Given the description of an element on the screen output the (x, y) to click on. 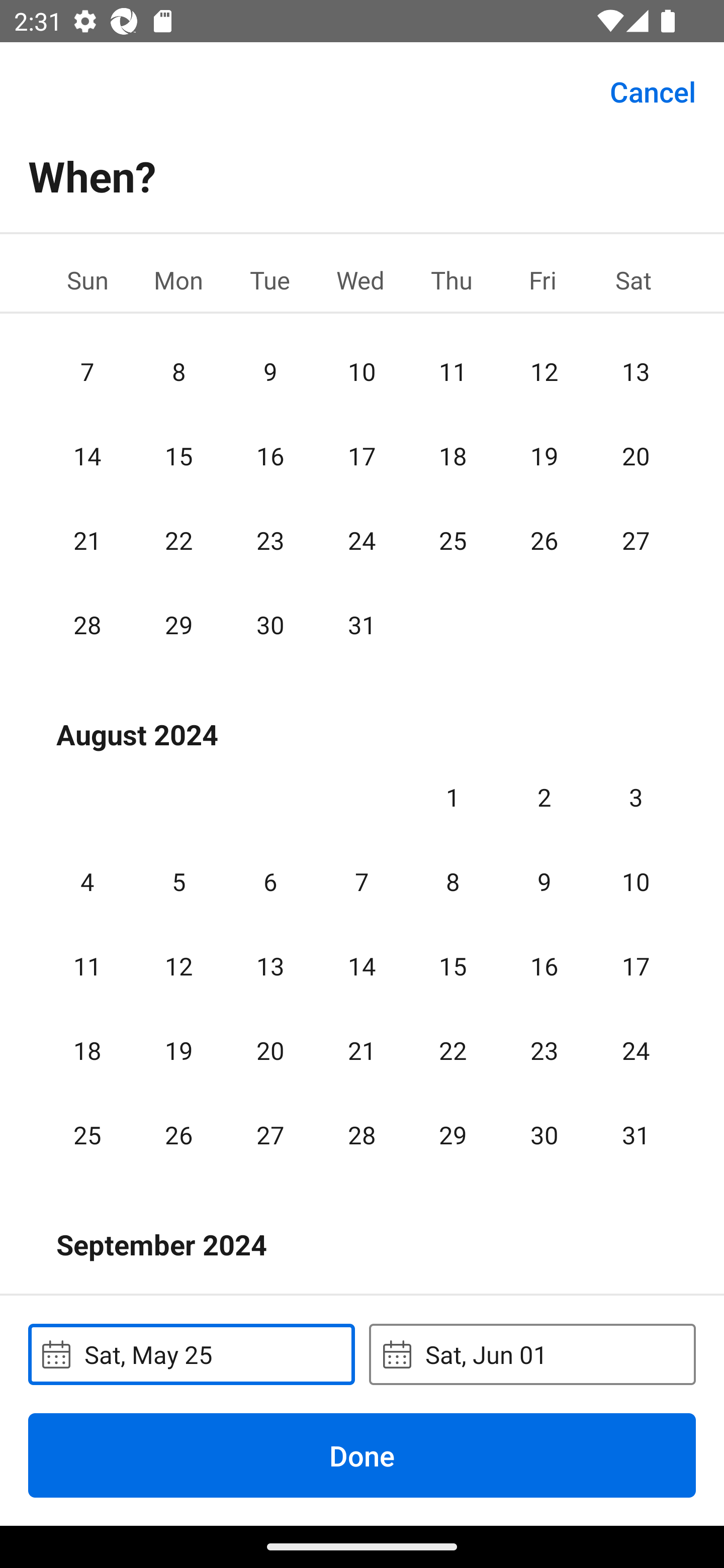
Cancel (652, 90)
Sat, May 25 (191, 1353)
Sat, Jun 01 (532, 1353)
Done (361, 1454)
